Given the description of an element on the screen output the (x, y) to click on. 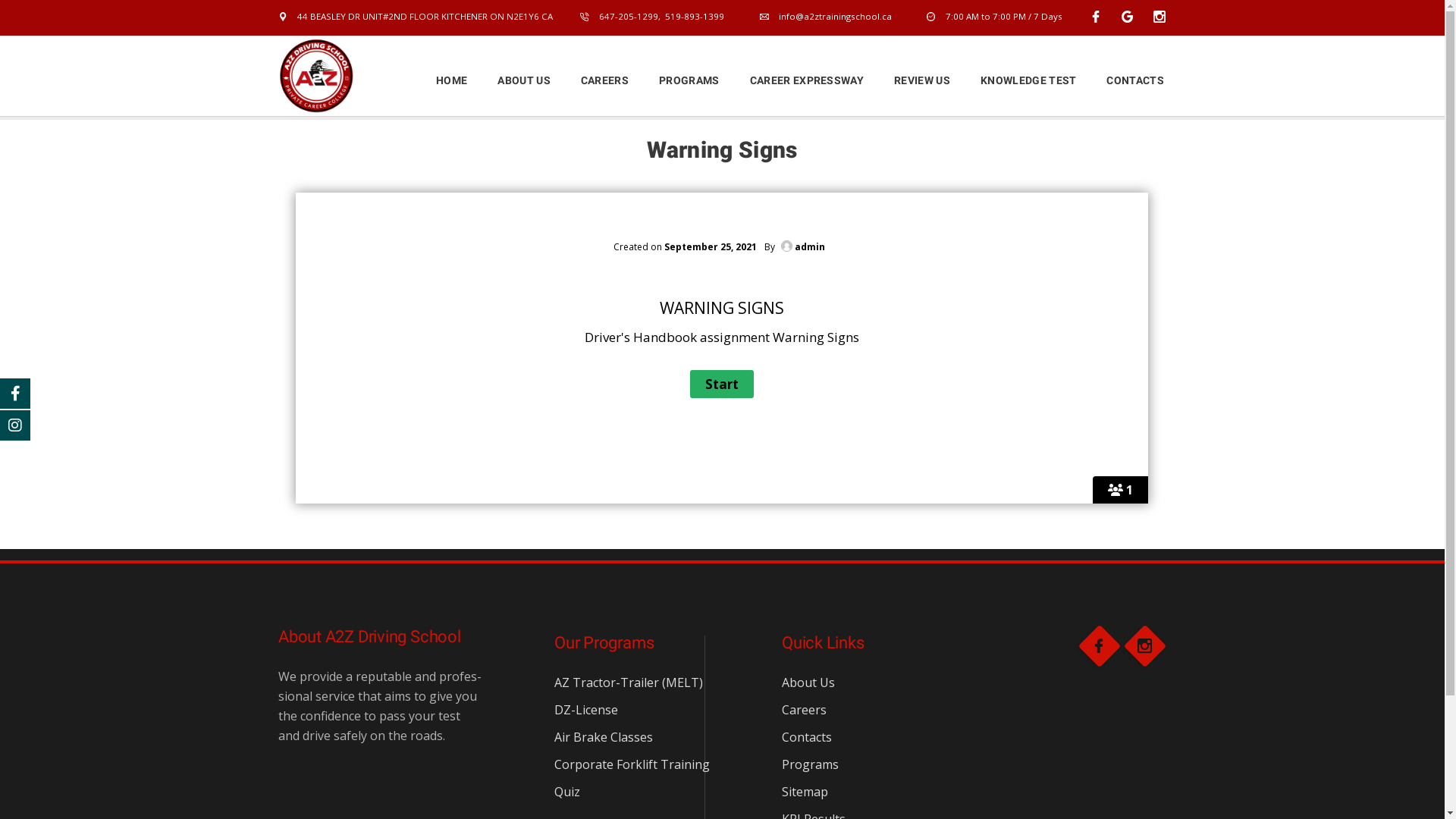
Quiz Element type: text (567, 791)
Sitemap Element type: text (804, 791)
PROGRAMS Element type: text (688, 80)
Contacts Element type: text (806, 736)
Careers Element type: text (803, 709)
ABOUT US Element type: text (523, 80)
DZ-License Element type: text (586, 709)
info@a2ztrainingschool.ca Element type: text (825, 15)
HOME Element type: text (459, 80)
44 BEASLEY DR UNIT#2ND FLOOR KITCHENER ON N2E1Y6 CA Element type: text (415, 15)
KNOWLEDGE TEST Element type: text (1028, 80)
647-205-1299,  519-893-1399 Element type: text (652, 15)
Air Brake Classes Element type: text (603, 736)
AZ Tractor-Trailer (MELT) Element type: text (628, 682)
Programs Element type: text (809, 764)
CAREERS Element type: text (604, 80)
About Us Element type: text (807, 682)
Corporate Forklift Training Element type: text (631, 764)
CONTACTS Element type: text (1127, 80)
CAREER EXPRESSWAY Element type: text (806, 80)
REVIEW US Element type: text (921, 80)
